Given the description of an element on the screen output the (x, y) to click on. 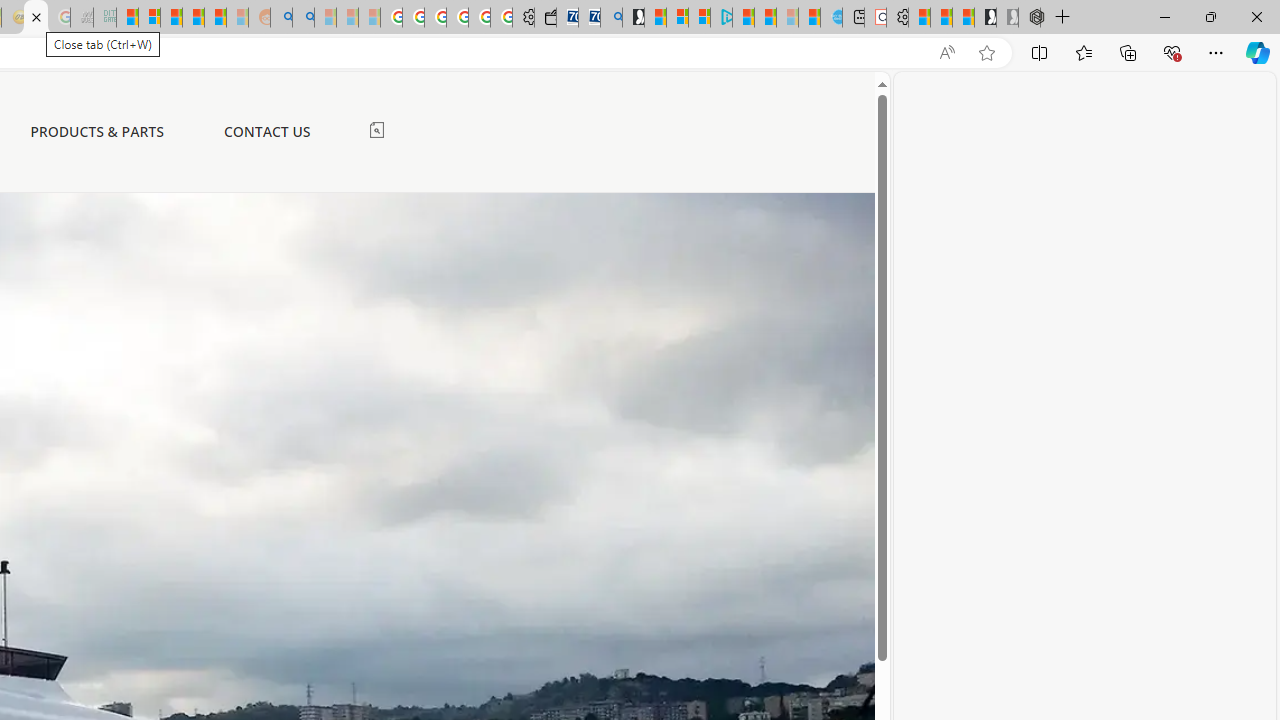
Wallet (545, 17)
CONTACT US (266, 131)
